Given the description of an element on the screen output the (x, y) to click on. 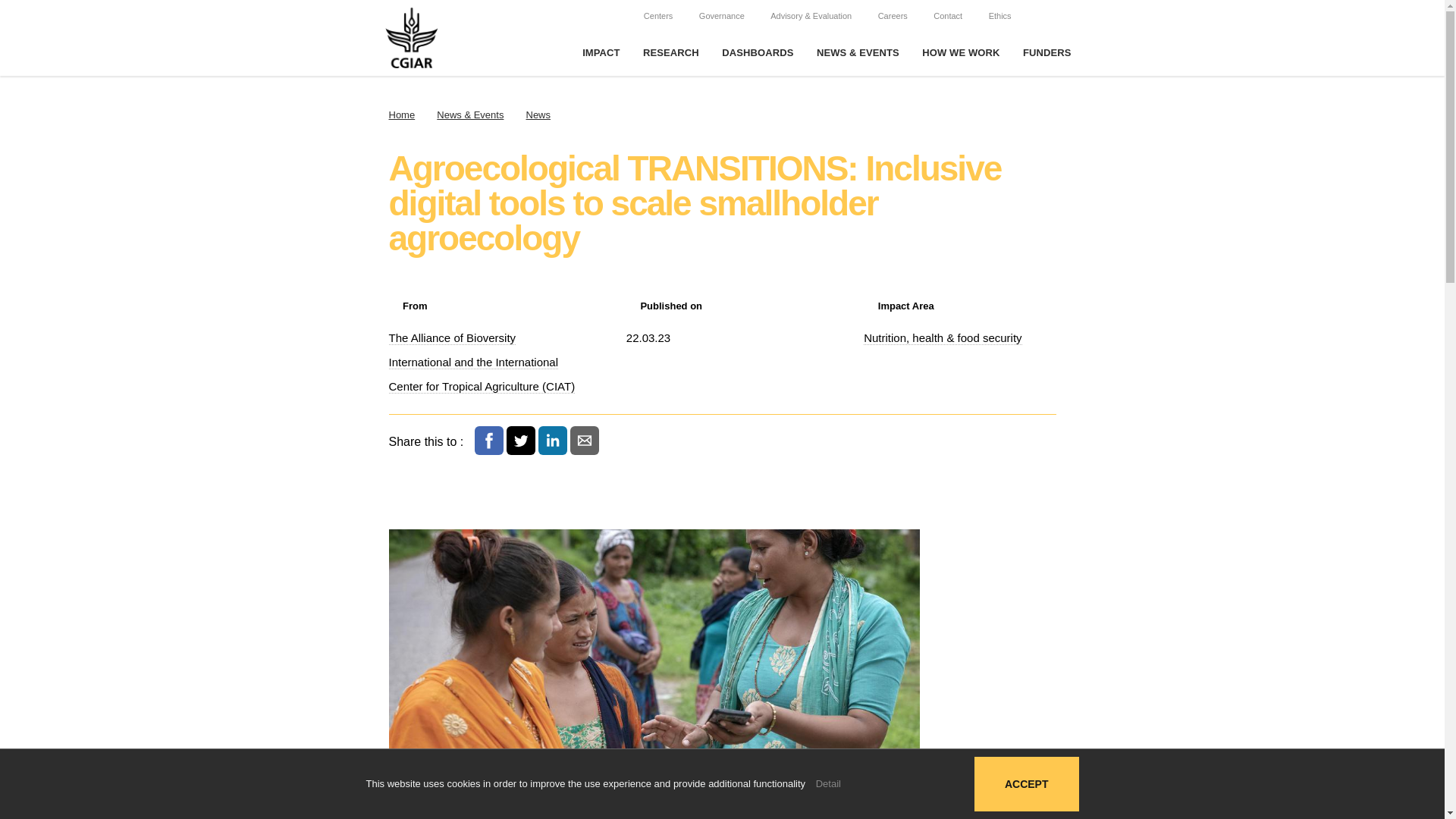
RESEARCH (670, 53)
